Given the description of an element on the screen output the (x, y) to click on. 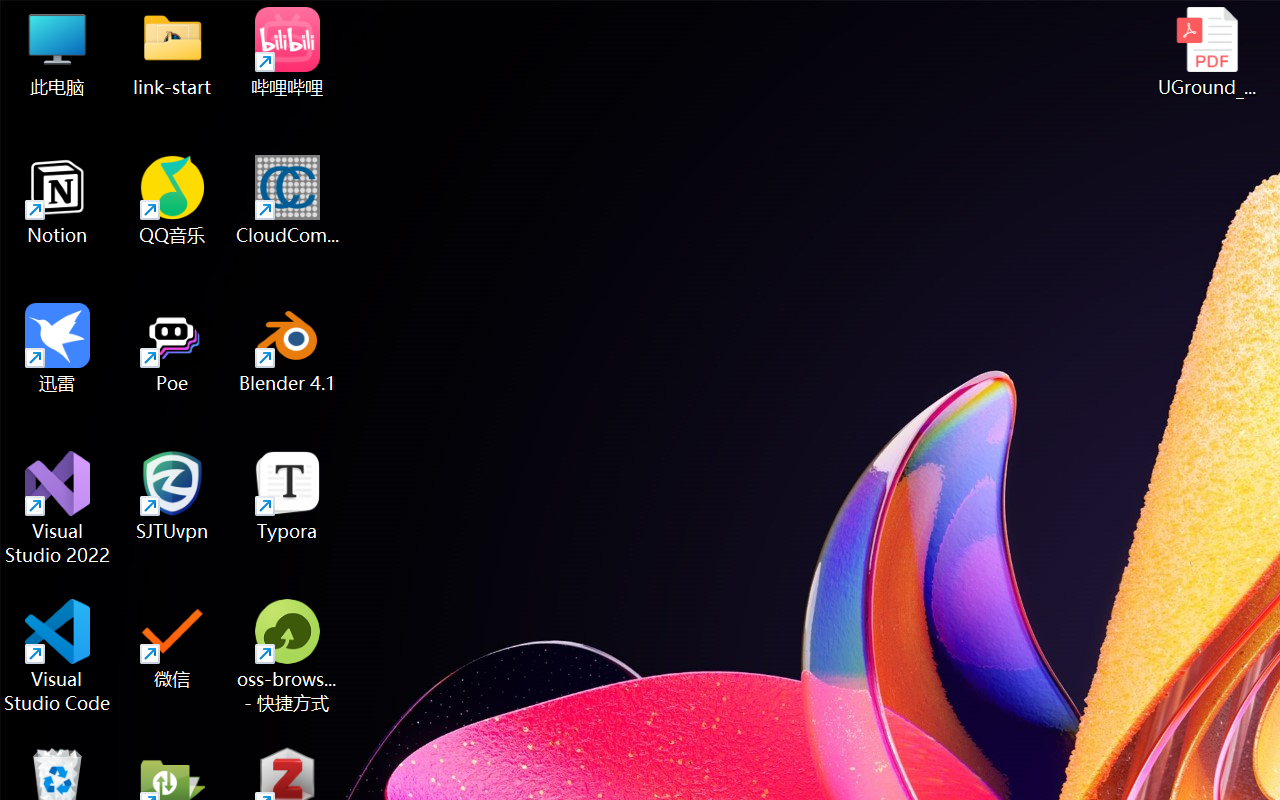
Blender 4.1 (287, 348)
Visual Studio Code (57, 656)
Visual Studio 2022 (57, 508)
Typora (287, 496)
CloudCompare (287, 200)
SJTUvpn (172, 496)
UGround_paper.pdf (1206, 52)
